Given the description of an element on the screen output the (x, y) to click on. 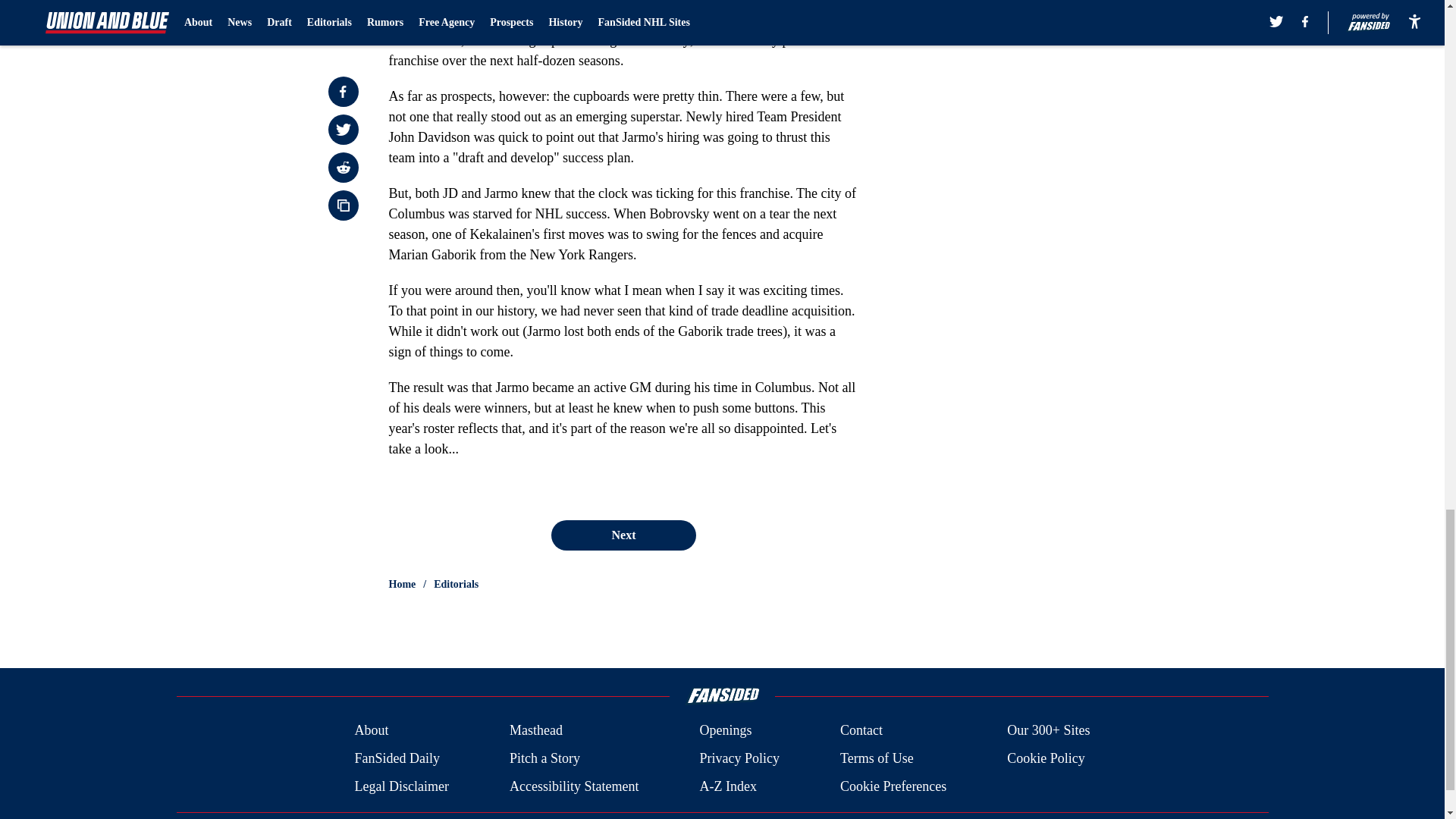
Contact (861, 730)
Openings (724, 730)
Privacy Policy (738, 758)
Editorials (456, 584)
Cookie Policy (1045, 758)
Home (401, 584)
Terms of Use (877, 758)
Legal Disclaimer (400, 786)
Next (622, 535)
FanSided Daily (396, 758)
Masthead (535, 730)
Pitch a Story (544, 758)
About (370, 730)
